Given the description of an element on the screen output the (x, y) to click on. 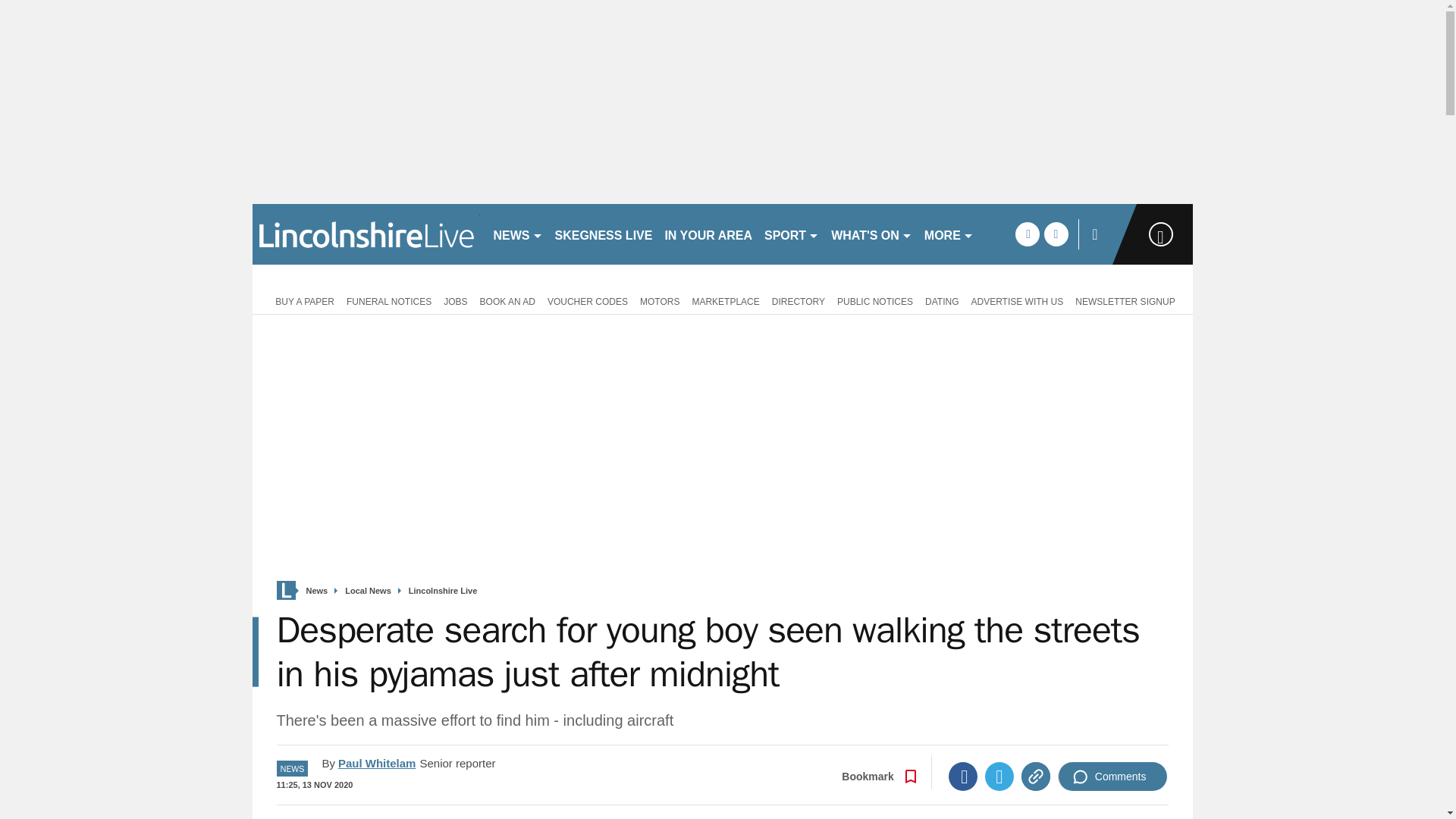
WHAT'S ON (871, 233)
MORE (948, 233)
SPORT (791, 233)
facebook (1026, 233)
NEWS (517, 233)
IN YOUR AREA (708, 233)
Twitter (999, 776)
Facebook (962, 776)
SKEGNESS LIVE (603, 233)
BUY A PAPER (301, 300)
